Given the description of an element on the screen output the (x, y) to click on. 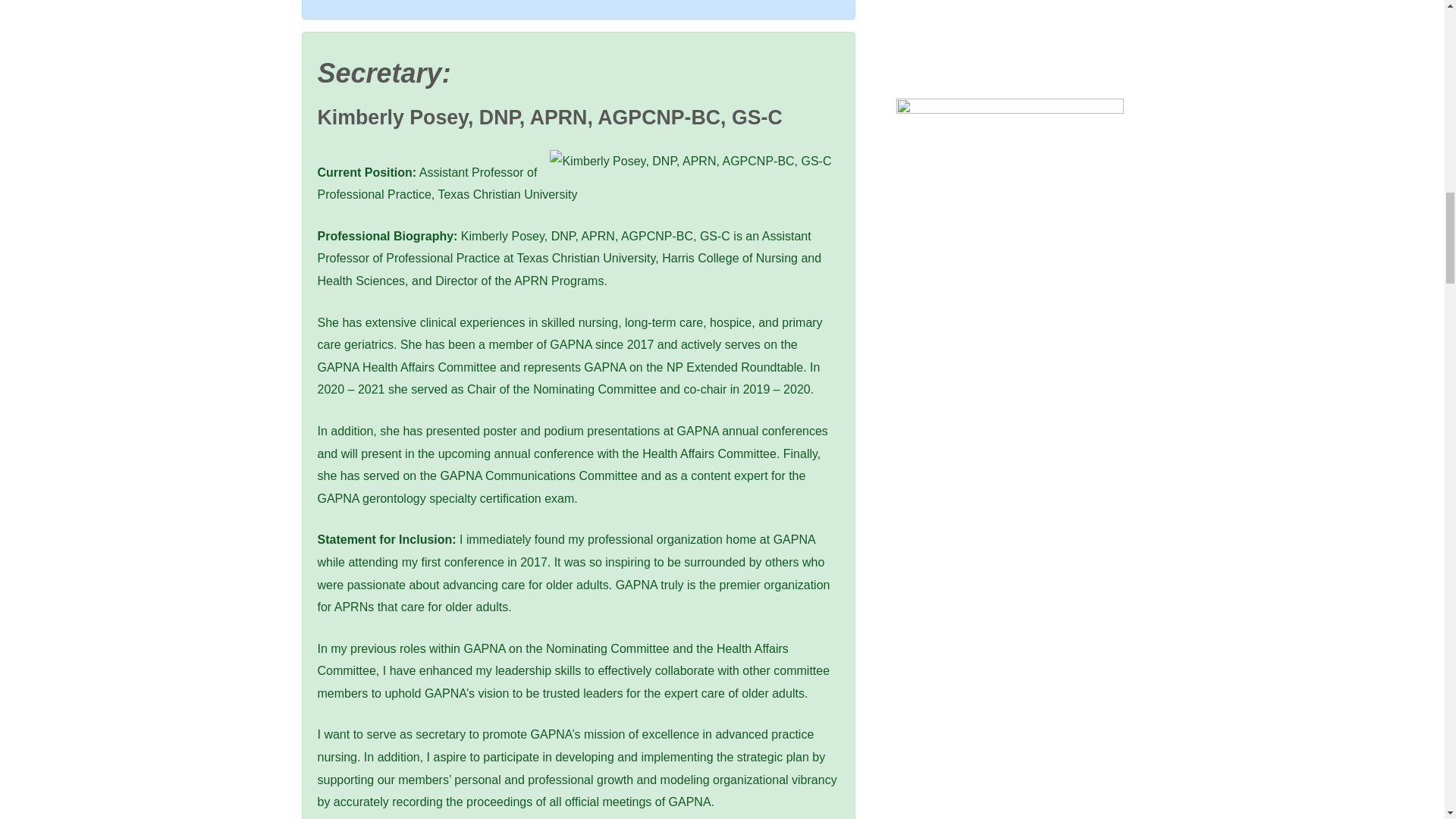
Kimberly Posey, DNP, APRN, AGPCNP-BC, GS-C (690, 160)
Read more (1010, 210)
